Given the description of an element on the screen output the (x, y) to click on. 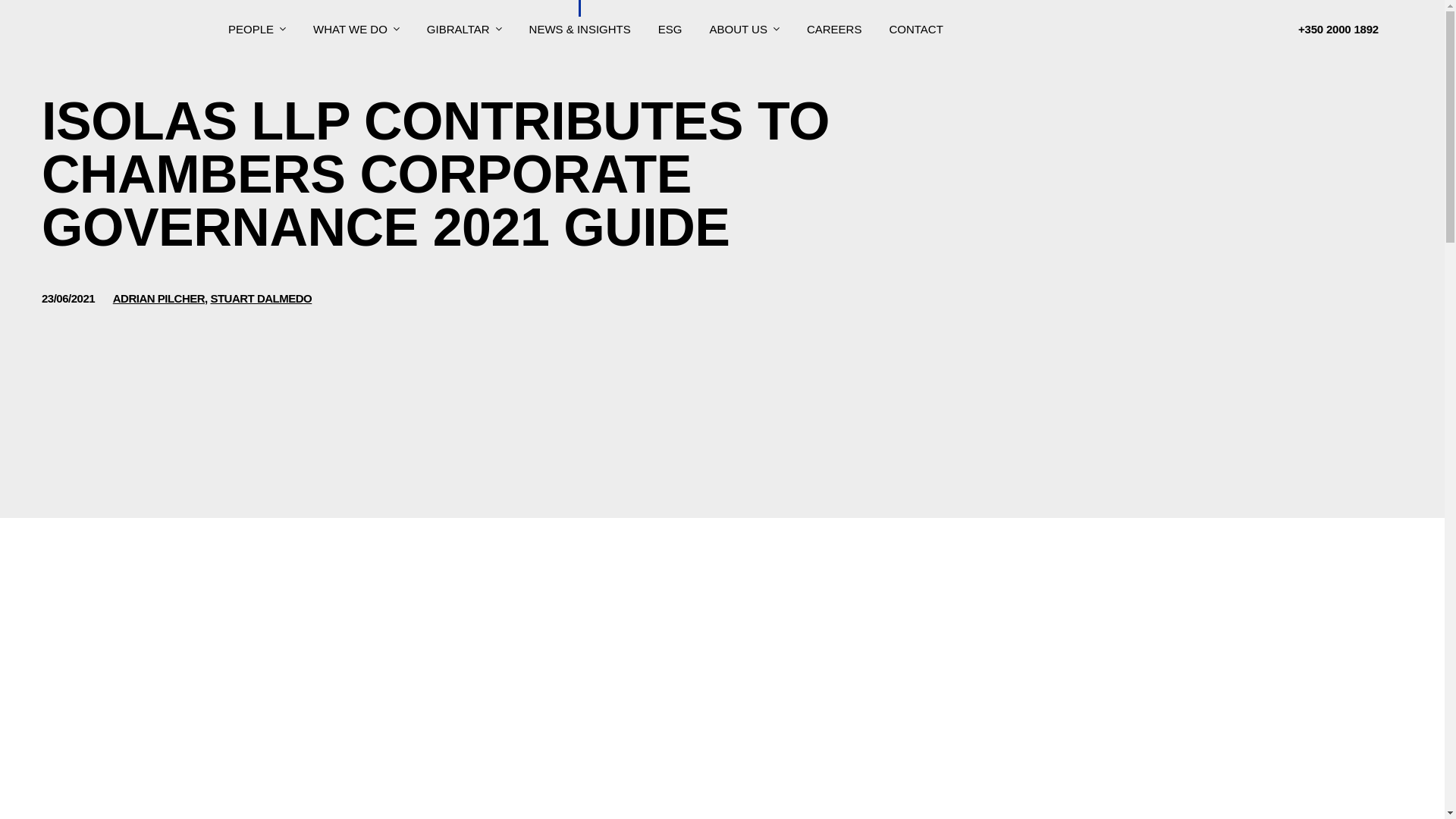
ISOLAS (114, 28)
WHAT WE DO (355, 28)
PEOPLE (256, 28)
